Given the description of an element on the screen output the (x, y) to click on. 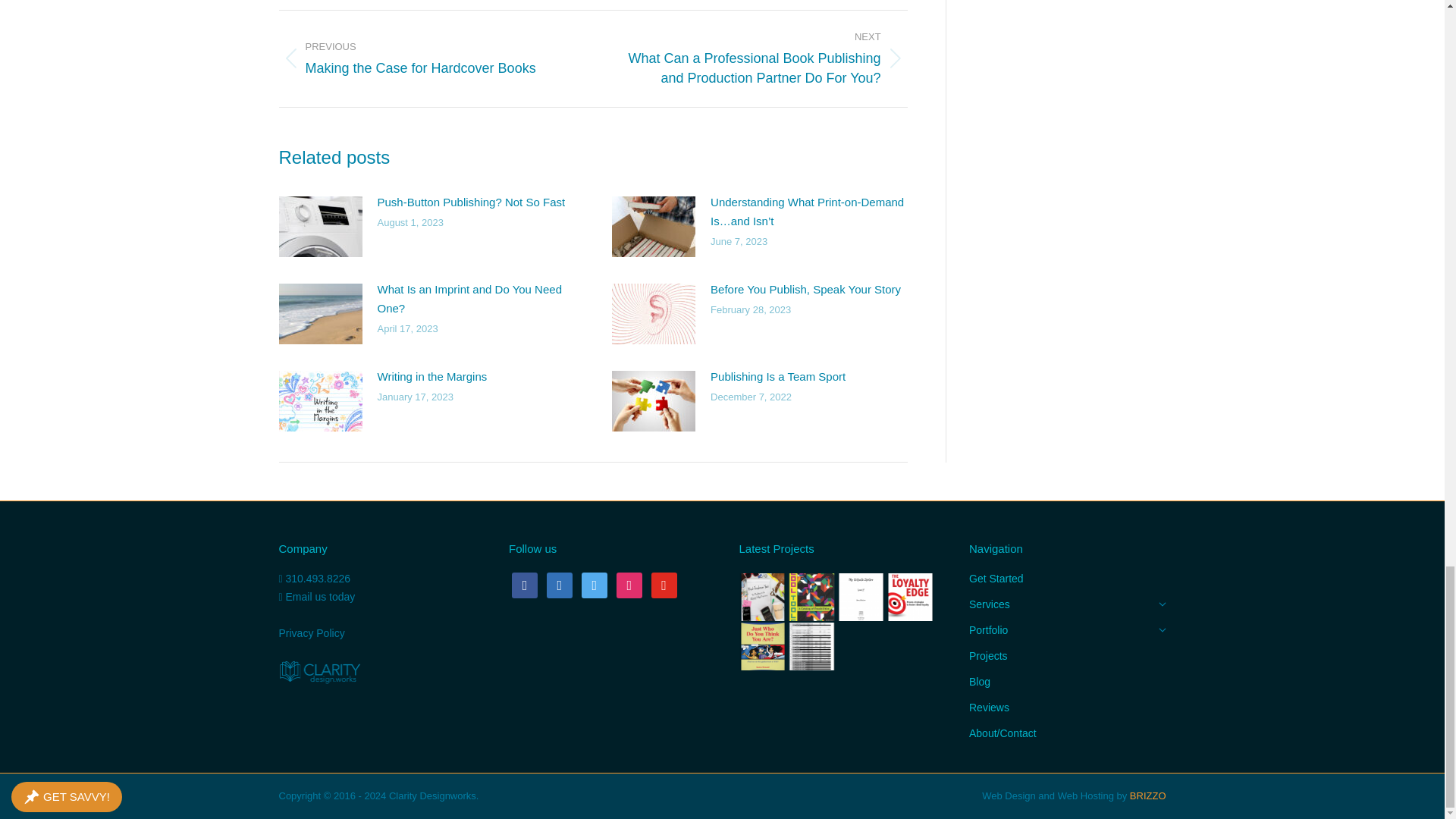
The Loyalty Edge (911, 597)
Twitter (559, 584)
Default Label (628, 584)
Instagram (593, 584)
Facebook (524, 584)
Cool Tools (812, 597)
Rock Freshman Year (762, 597)
Default Label (663, 584)
Just Who Do You Think You Are? (762, 646)
Catholic Spelling Workbook (861, 597)
NIBK Catalog (812, 646)
